Given the description of an element on the screen output the (x, y) to click on. 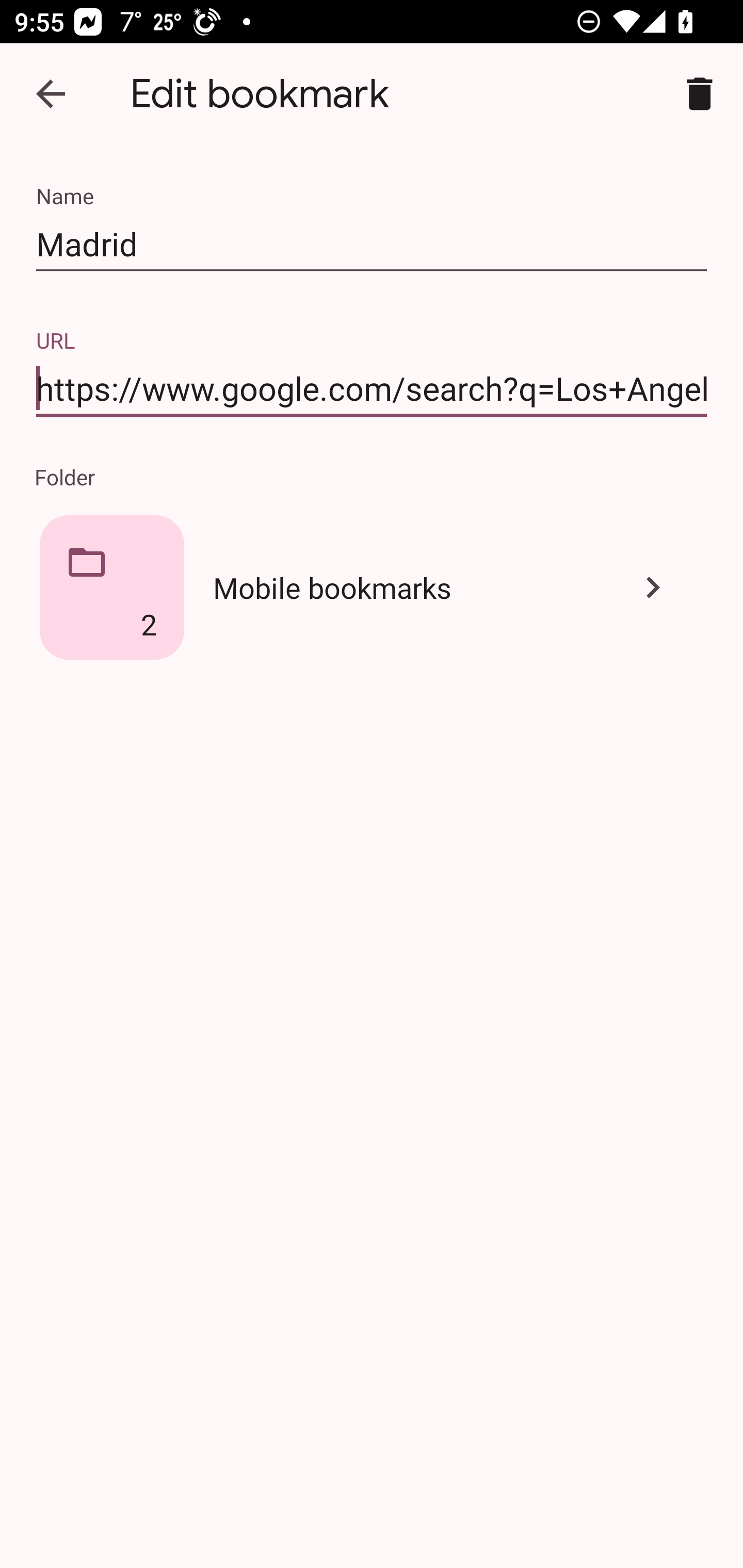
Navigate up (50, 93)
Delete bookmarks (699, 93)
Madrid (371, 244)
Mobile bookmarks 2 bookmarks 2 Mobile bookmarks (371, 586)
